Given the description of an element on the screen output the (x, y) to click on. 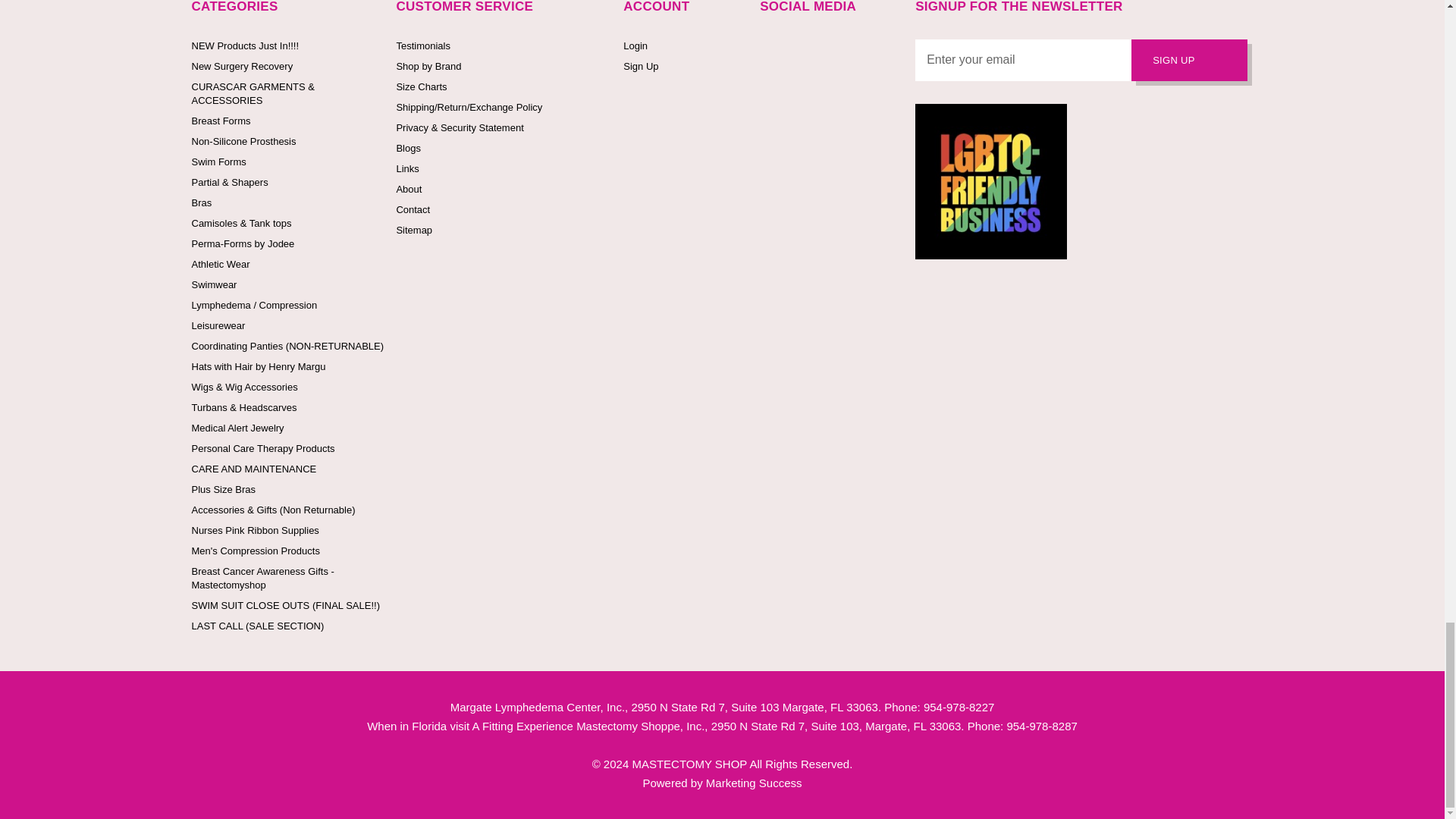
Twitter (801, 47)
Sign Up (1189, 60)
Facebook (768, 47)
